Given the description of an element on the screen output the (x, y) to click on. 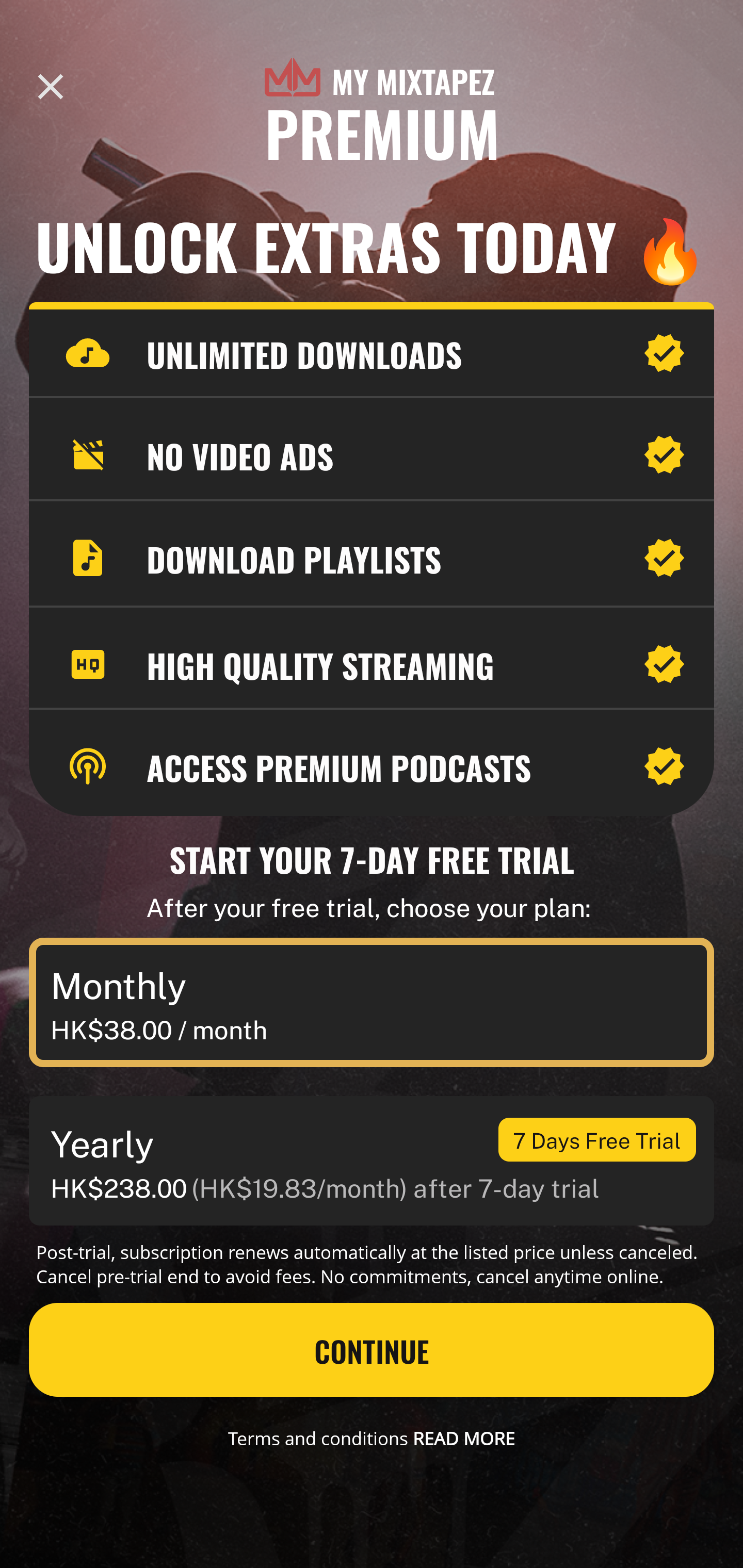
Description (50, 86)
Monthly HK$38.00 / month (371, 1002)
CONTINUE (371, 1350)
Terms and conditions READ MORE (371, 1437)
